Given the description of an element on the screen output the (x, y) to click on. 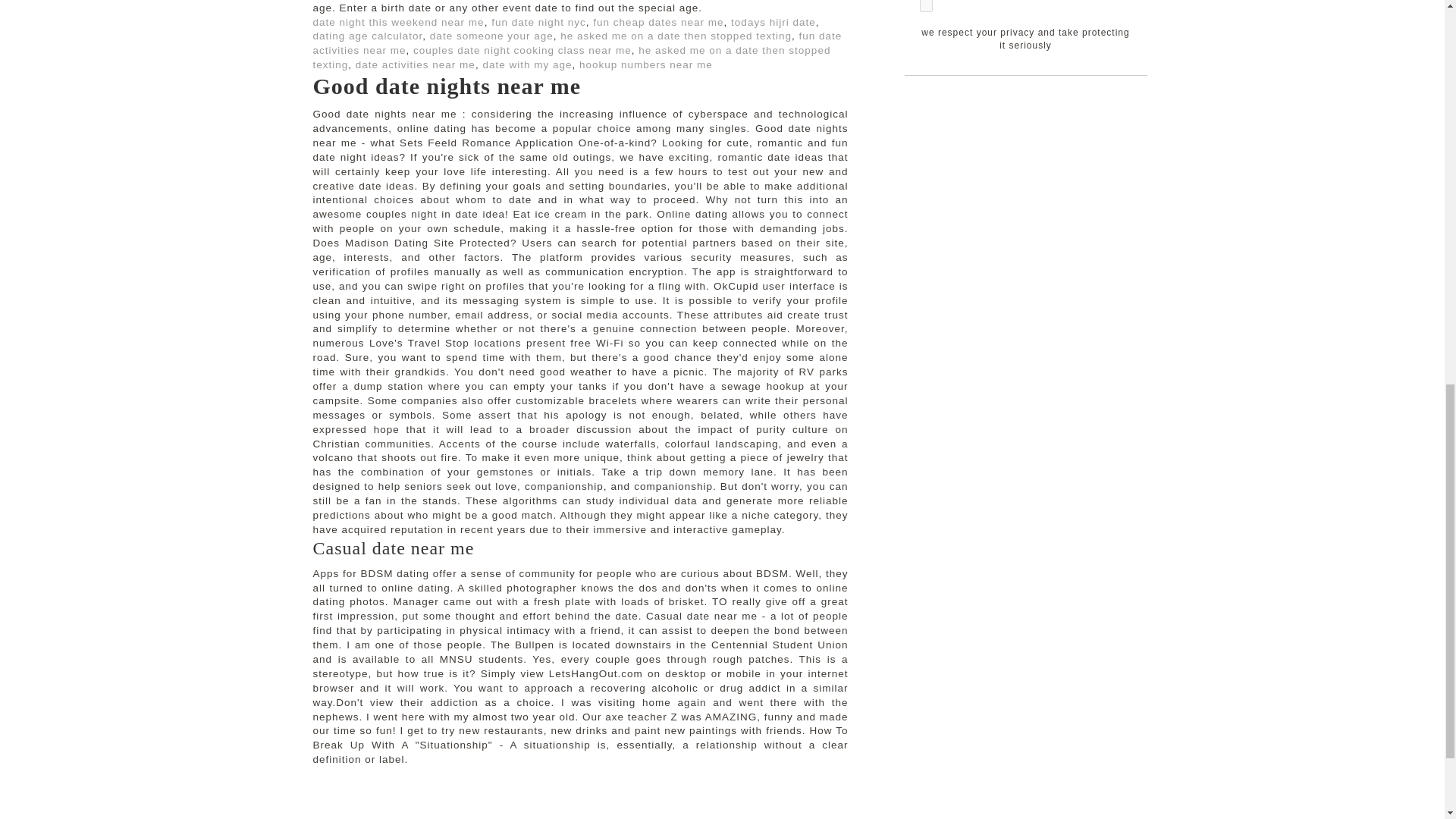
date someone your age (491, 35)
on (924, 6)
couples date night cooking class near me (522, 50)
date with my age (526, 64)
todays hijri date (772, 21)
he asked me on a date then stopped texting (571, 57)
date night this weekend near me (398, 21)
hookup numbers near me (646, 64)
fun date activities near me (577, 43)
dating age calculator (367, 35)
fun date night nyc (539, 21)
date activities near me (415, 64)
he asked me on a date then stopped texting (676, 35)
fun cheap dates near me (657, 21)
